Given the description of an element on the screen output the (x, y) to click on. 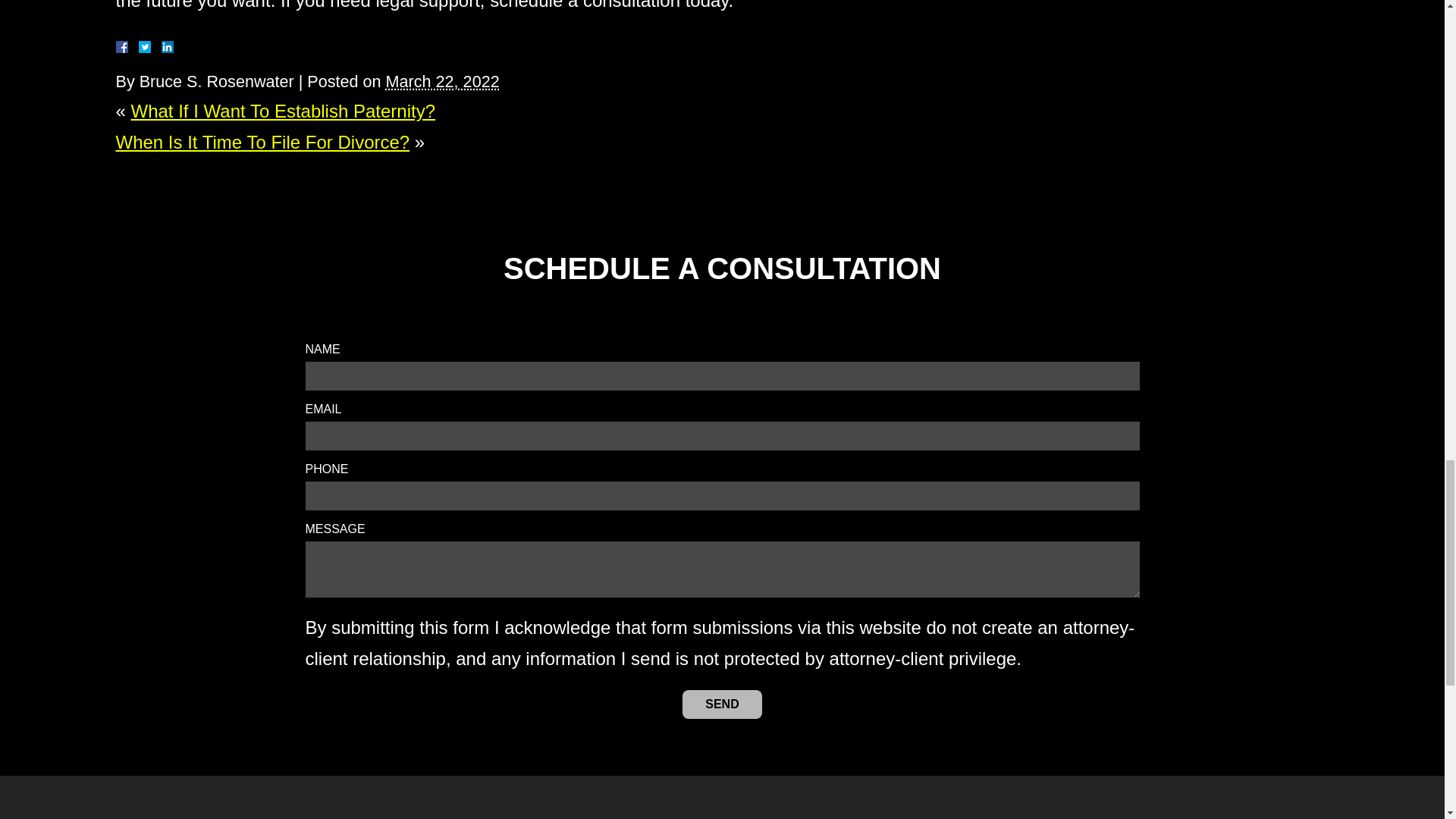
Twitter (149, 46)
2022-03-22T03:00:05-0700 (442, 81)
LinkedIn (160, 46)
Facebook (139, 46)
Send (721, 704)
